Given the description of an element on the screen output the (x, y) to click on. 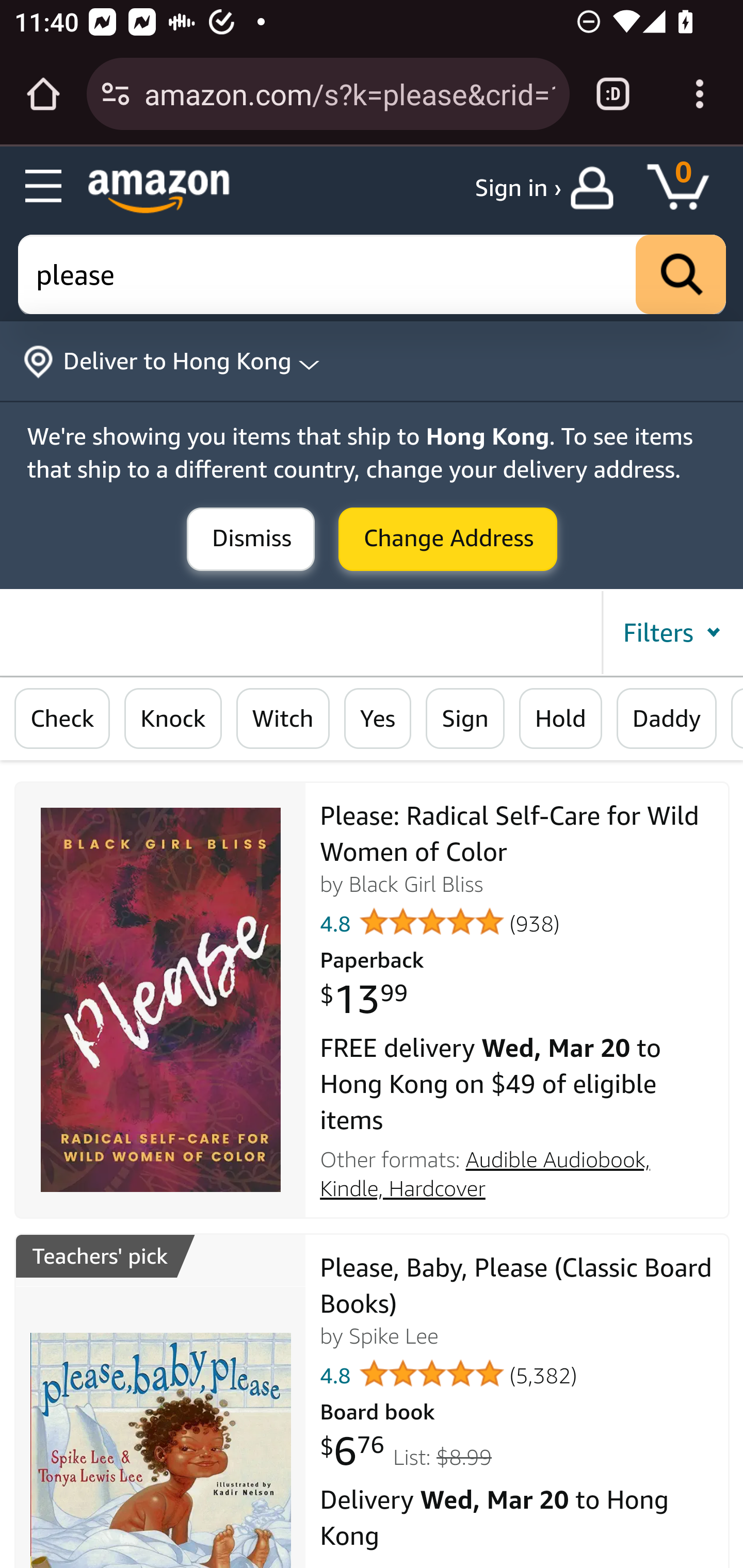
Open the home page (43, 93)
Connection is secure (115, 93)
Switch or close tabs (612, 93)
Customize and control Google Chrome (699, 93)
